Given the description of an element on the screen output the (x, y) to click on. 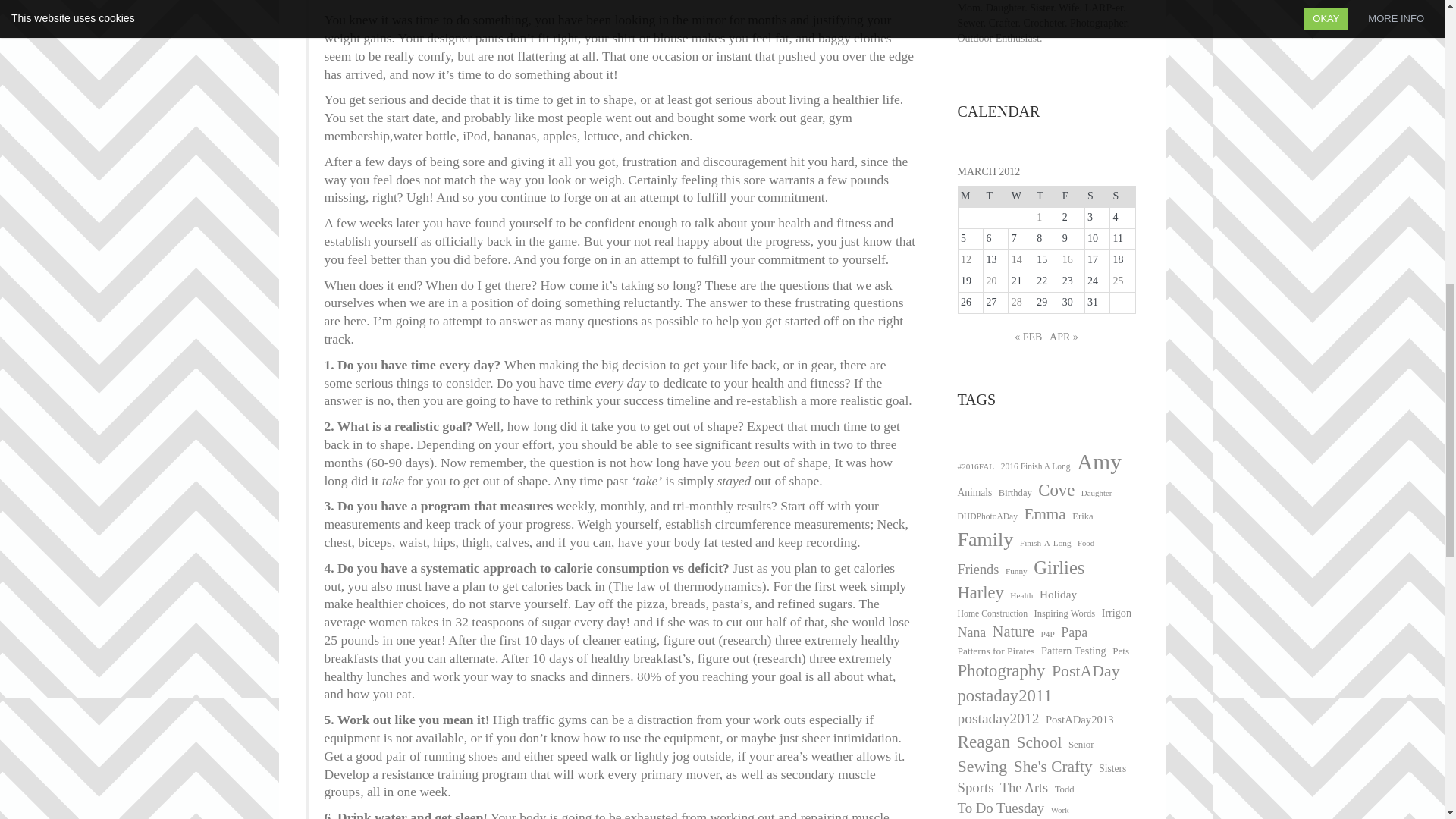
Wednesday (1021, 196)
Monday (970, 196)
Saturday (1096, 196)
Sunday (1122, 196)
IMG579 (409, 2)
Thursday (1045, 196)
Friday (1071, 196)
Tuesday (994, 196)
